Given the description of an element on the screen output the (x, y) to click on. 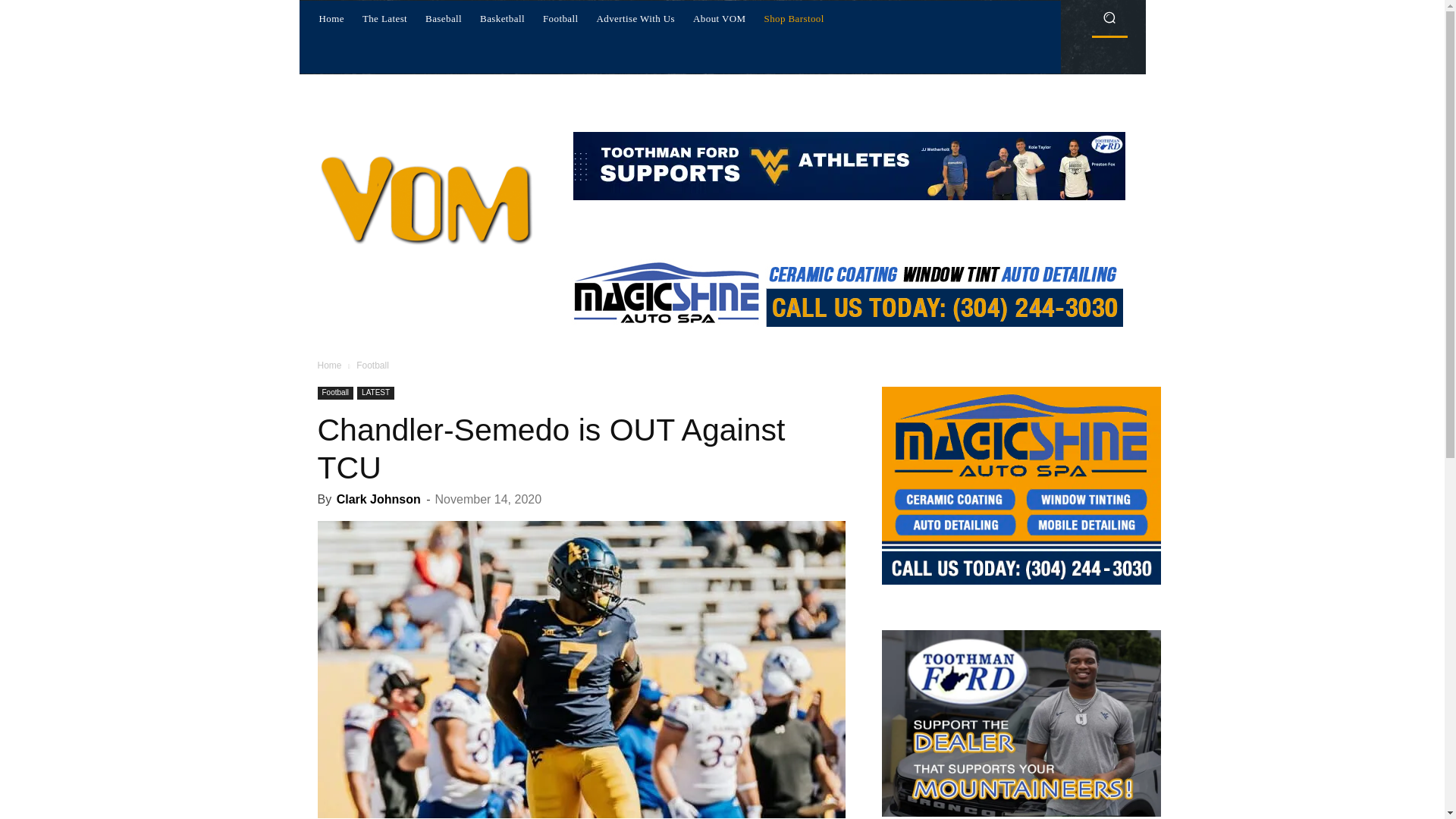
The Latest (384, 18)
About VOM (719, 18)
Football (335, 392)
LATEST (375, 392)
Football (561, 18)
Shop Barstool (793, 18)
Basketball (502, 18)
Home (328, 365)
Home (330, 18)
Advertise With Us (636, 18)
Clark Johnson (378, 499)
Baseball (443, 18)
